Given the description of an element on the screen output the (x, y) to click on. 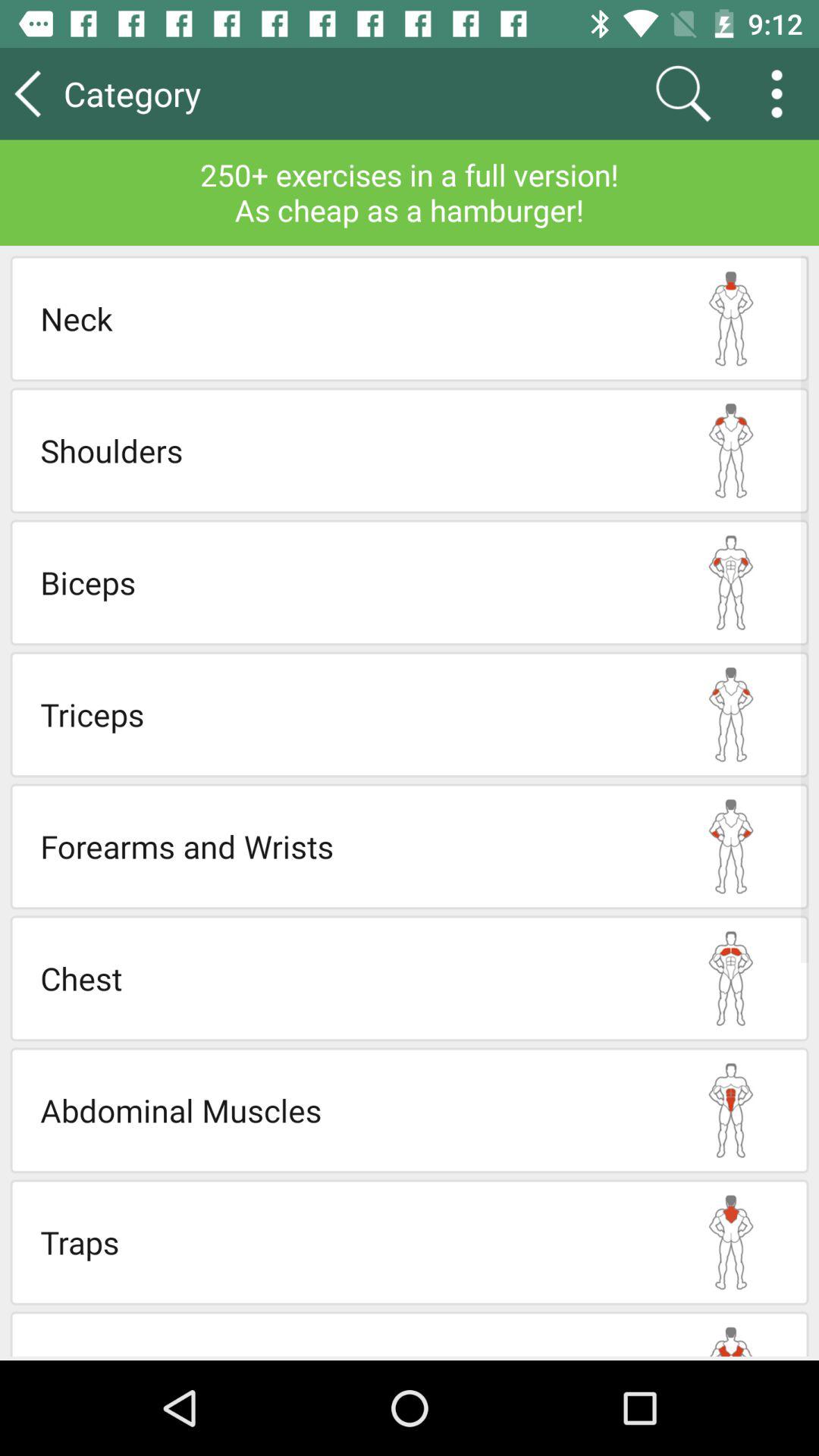
scroll to triceps (346, 714)
